Given the description of an element on the screen output the (x, y) to click on. 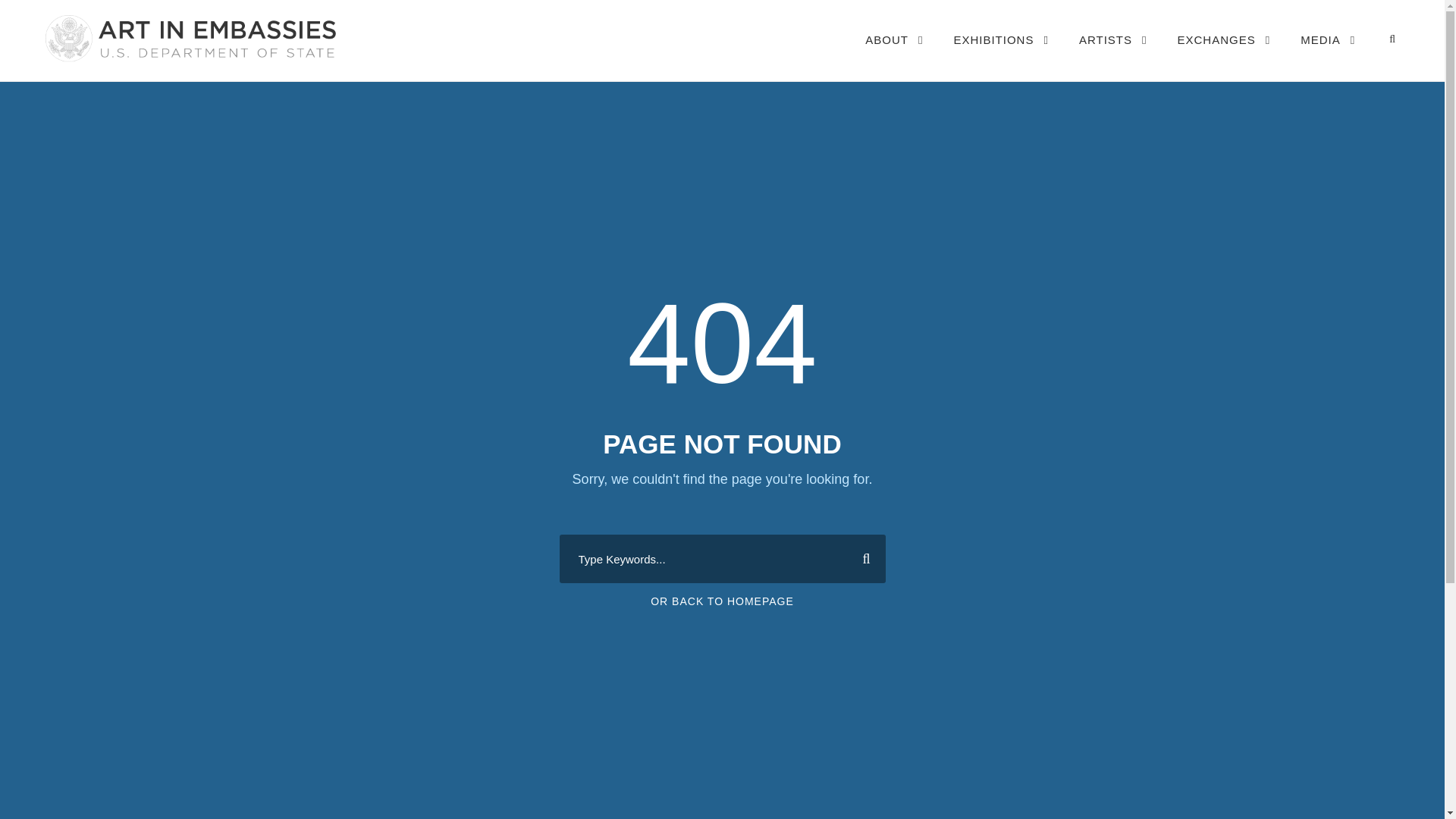
ARTISTS (1112, 55)
OR BACK TO HOMEPAGE (721, 601)
MEDIA (1327, 55)
aie logo3 (188, 38)
EXCHANGES (1224, 55)
EXHIBITIONS (1000, 55)
Search (860, 558)
ABOUT (893, 55)
